Given the description of an element on the screen output the (x, y) to click on. 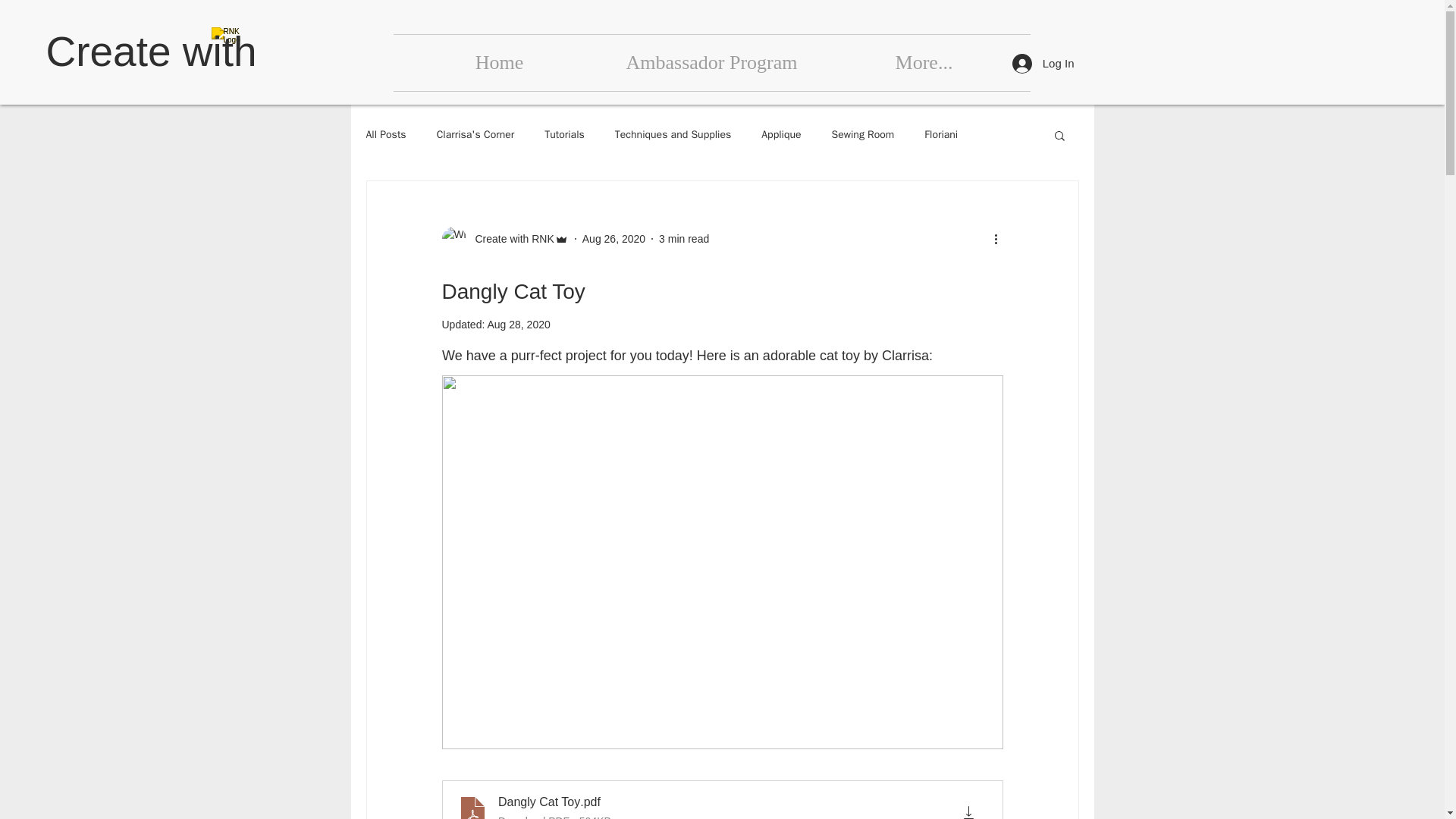
Tutorials (564, 134)
Applique (780, 134)
Sewing Room (863, 134)
Floriani (941, 134)
Log In (1042, 62)
Create with RNK (504, 238)
3 min read (684, 237)
Ambassador Program (710, 62)
Aug 28, 2020 (518, 324)
Techniques and Supplies (672, 134)
